Given the description of an element on the screen output the (x, y) to click on. 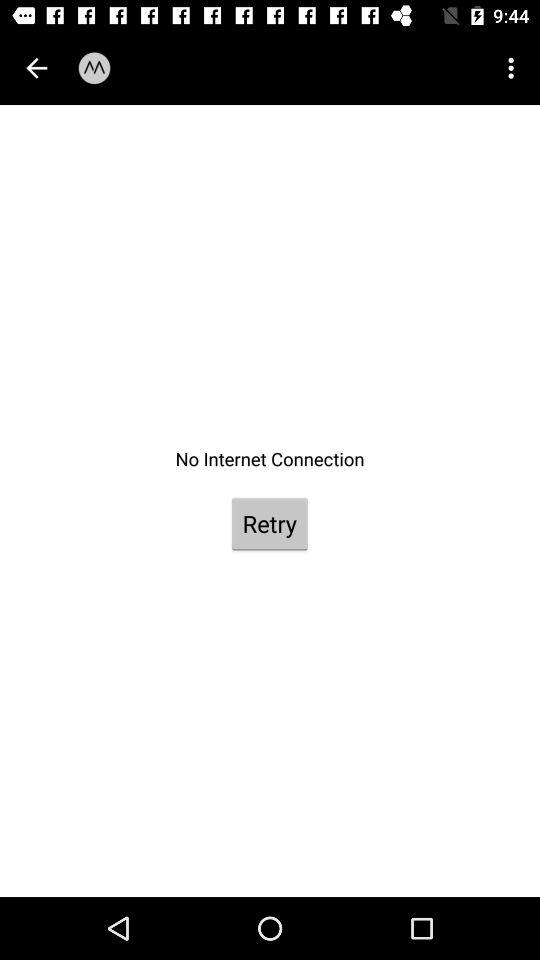
scroll to retry item (269, 523)
